Given the description of an element on the screen output the (x, y) to click on. 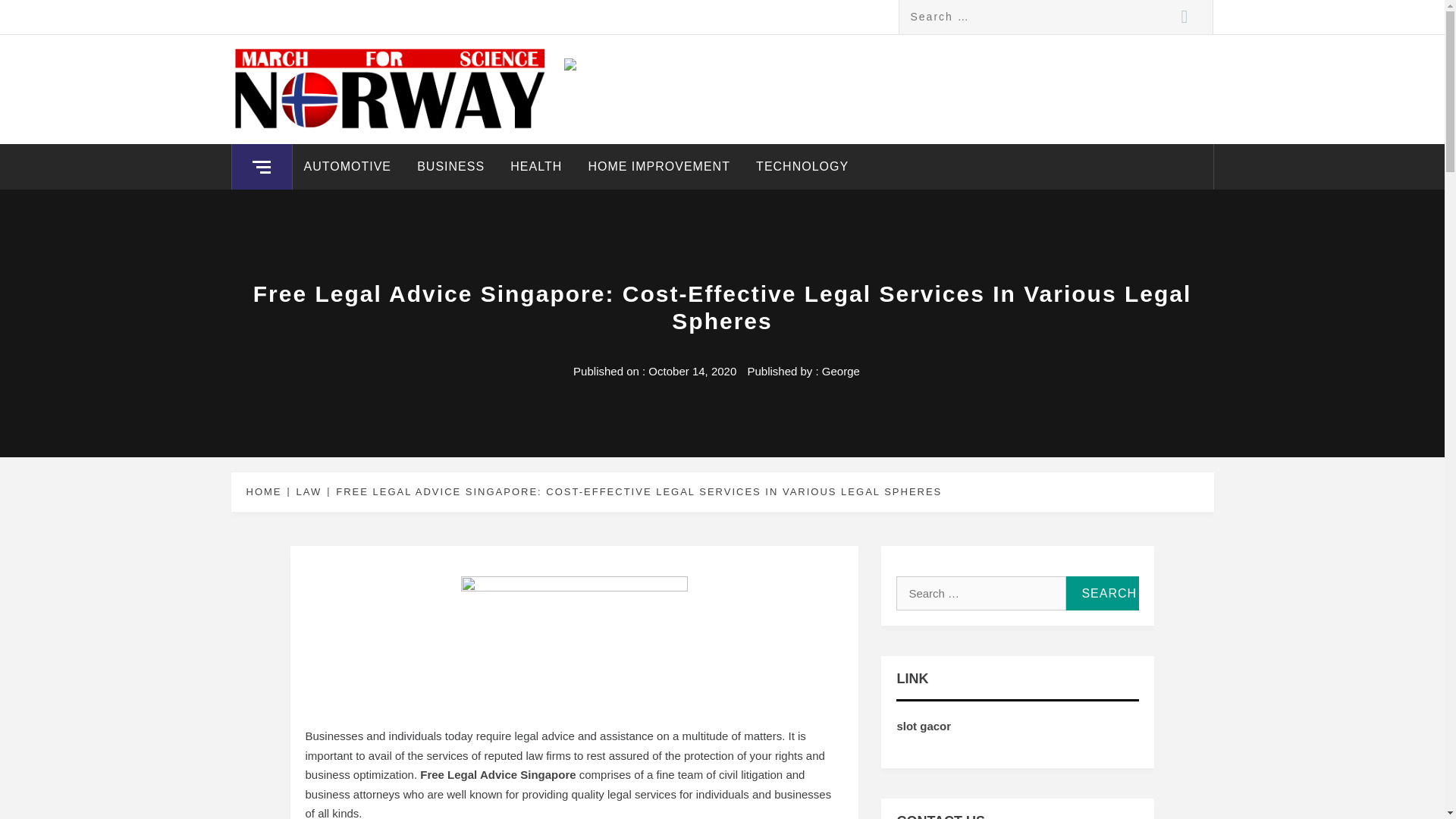
Search (1184, 17)
slot gacor (923, 725)
March for Science Norway (434, 70)
Free Legal Advice Singapore (497, 774)
Search (1184, 17)
LAW (306, 491)
Search (1101, 593)
George (841, 370)
Search (1101, 593)
AUTOMOTIVE (347, 166)
BUSINESS (451, 166)
Search (1101, 593)
HOME IMPROVEMENT (658, 166)
HOME (266, 491)
October 14, 2020 (691, 370)
